Given the description of an element on the screen output the (x, y) to click on. 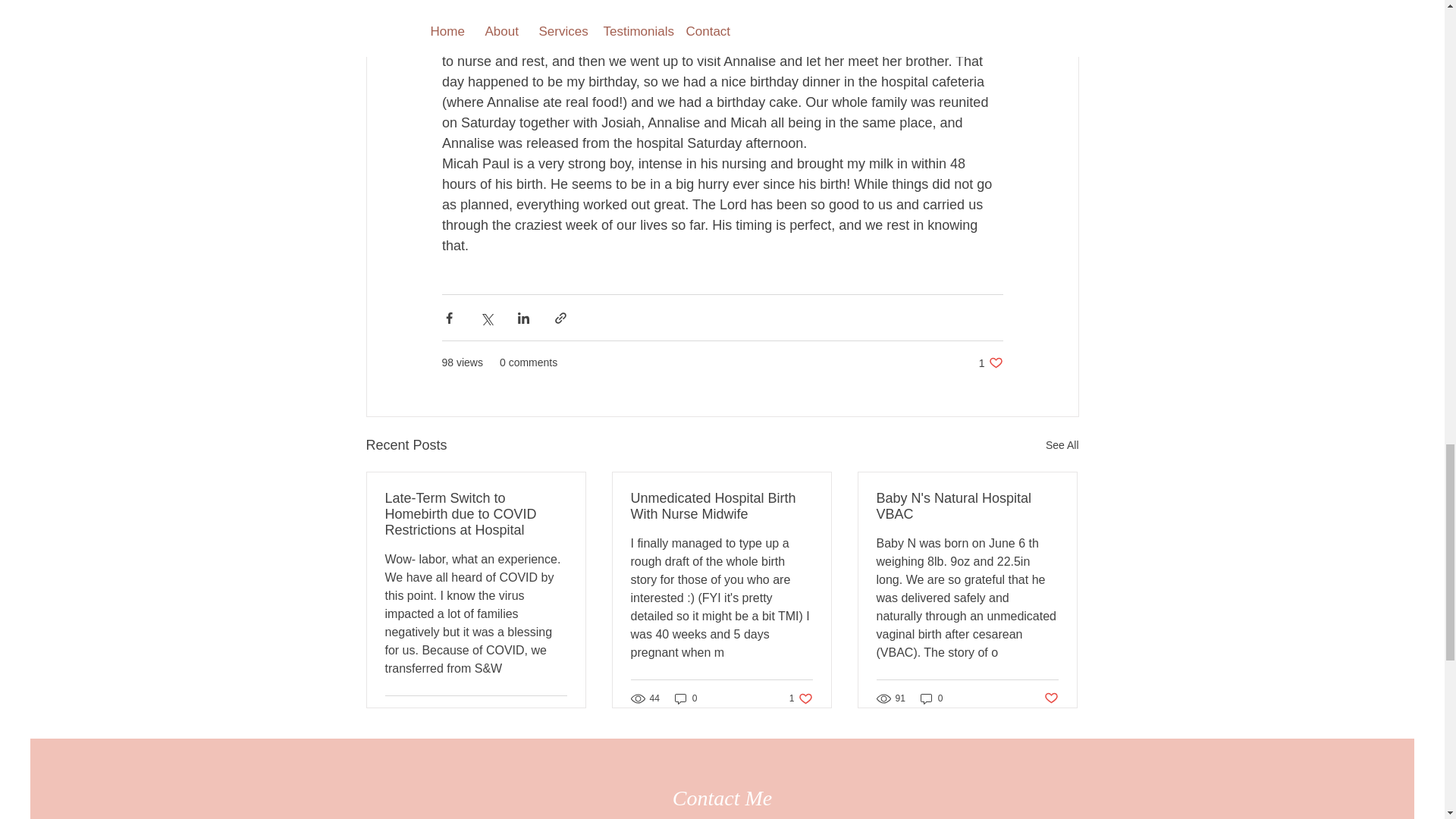
See All (1061, 445)
Post not marked as liked (558, 714)
Baby N's Natural Hospital VBAC (800, 698)
Post not marked as liked (967, 506)
Unmedicated Hospital Birth With Nurse Midwife (1050, 697)
0 (990, 362)
0 (721, 506)
